Given the description of an element on the screen output the (x, y) to click on. 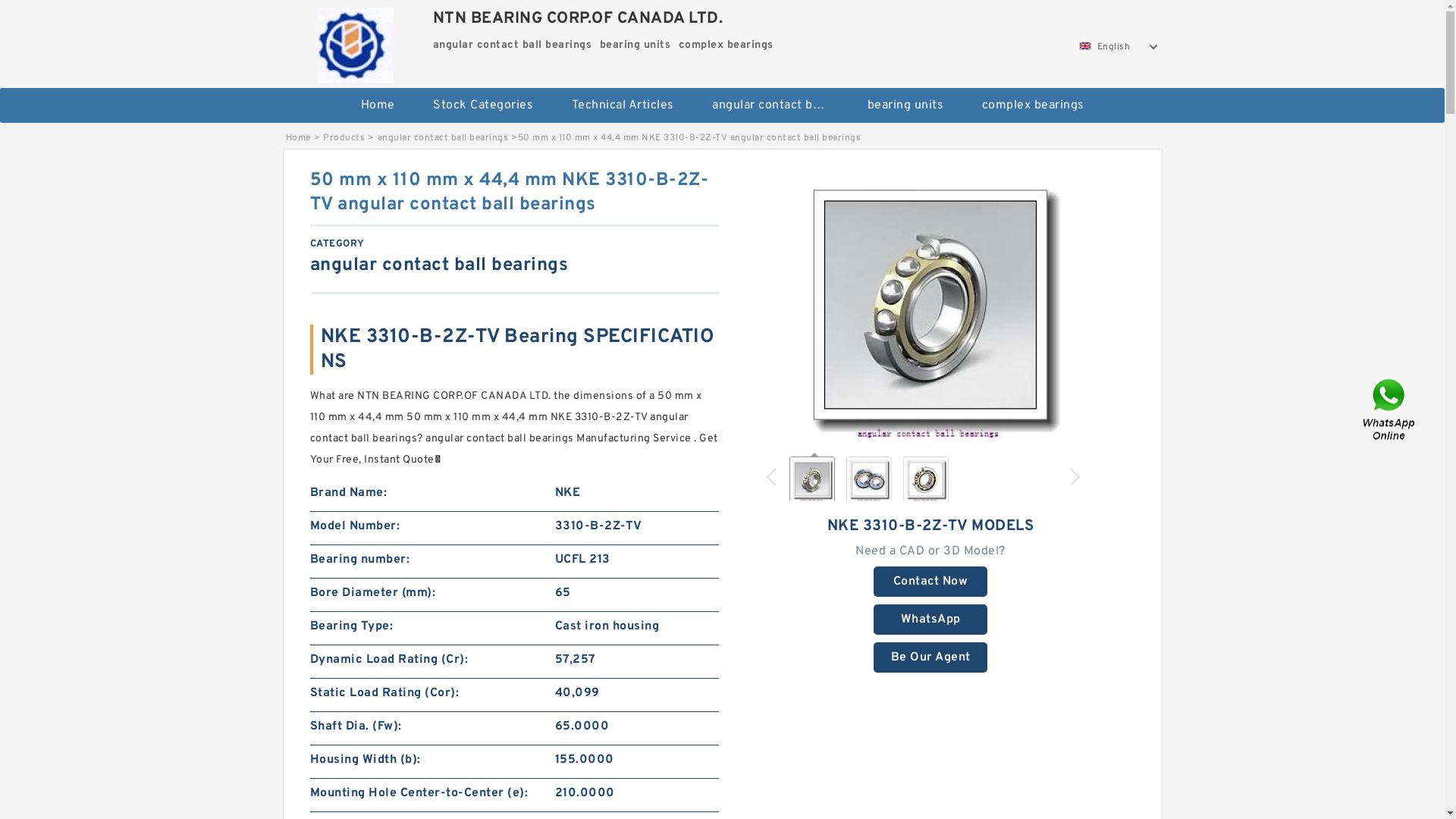
WhatsApp Element type: text (930, 619)
Stock Categories Element type: text (482, 104)
Contact Us Element type: hover (1389, 409)
Products Element type: text (343, 137)
angular contact ball bearings Element type: text (770, 104)
Be Our Agent Element type: text (930, 657)
bearing units Element type: text (904, 104)
Home Element type: text (376, 104)
Contact Now Element type: text (930, 581)
complex bearings Element type: text (1032, 104)
NTN BEARING CORP.OF CANADA LTD. Element type: hover (355, 41)
angular contact ball bearings Element type: text (442, 137)
Technical Articles Element type: text (621, 104)
Home Element type: text (297, 137)
